Given the description of an element on the screen output the (x, y) to click on. 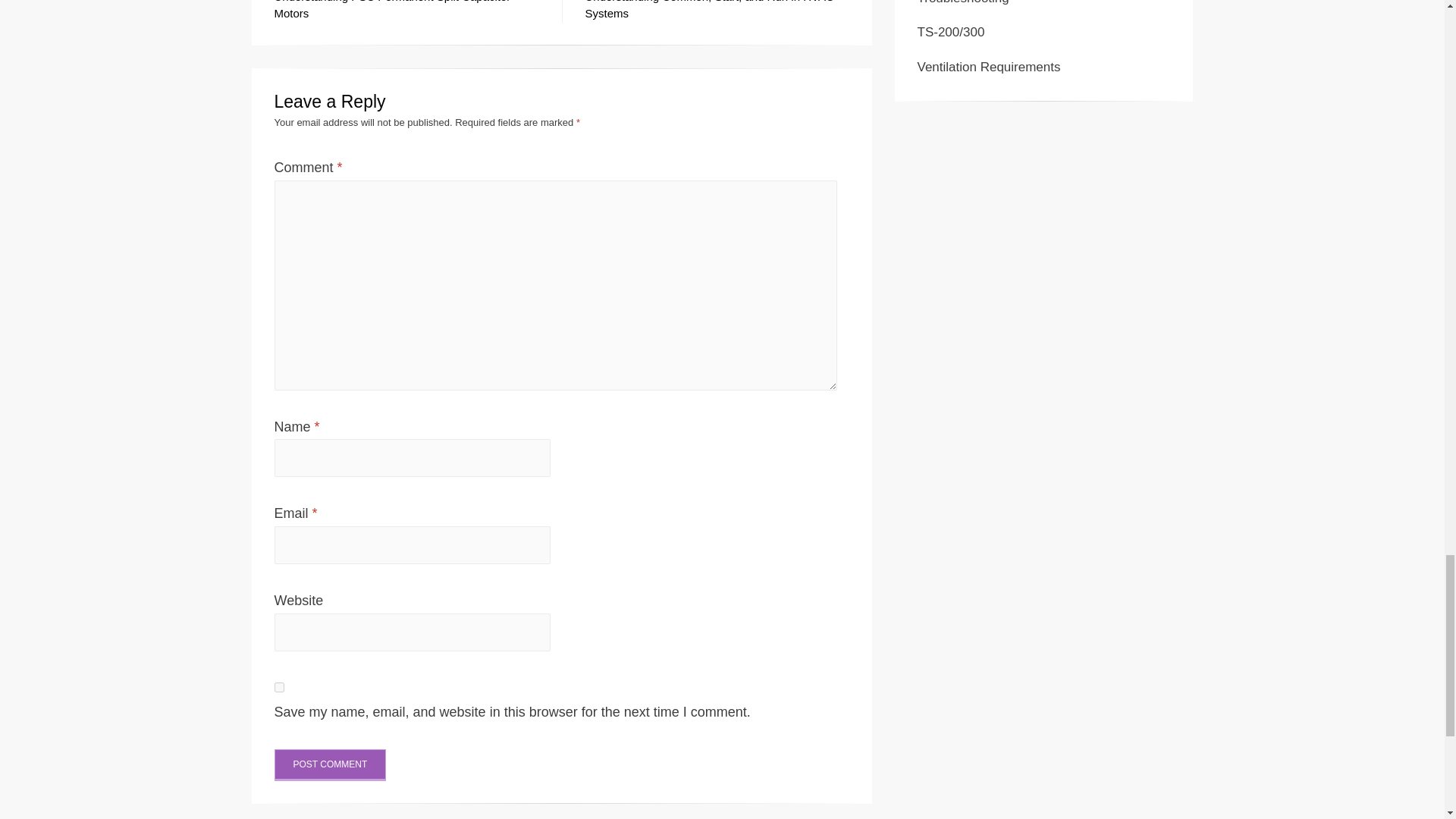
Post Comment (331, 765)
Post Comment (331, 765)
yes (279, 687)
